Given the description of an element on the screen output the (x, y) to click on. 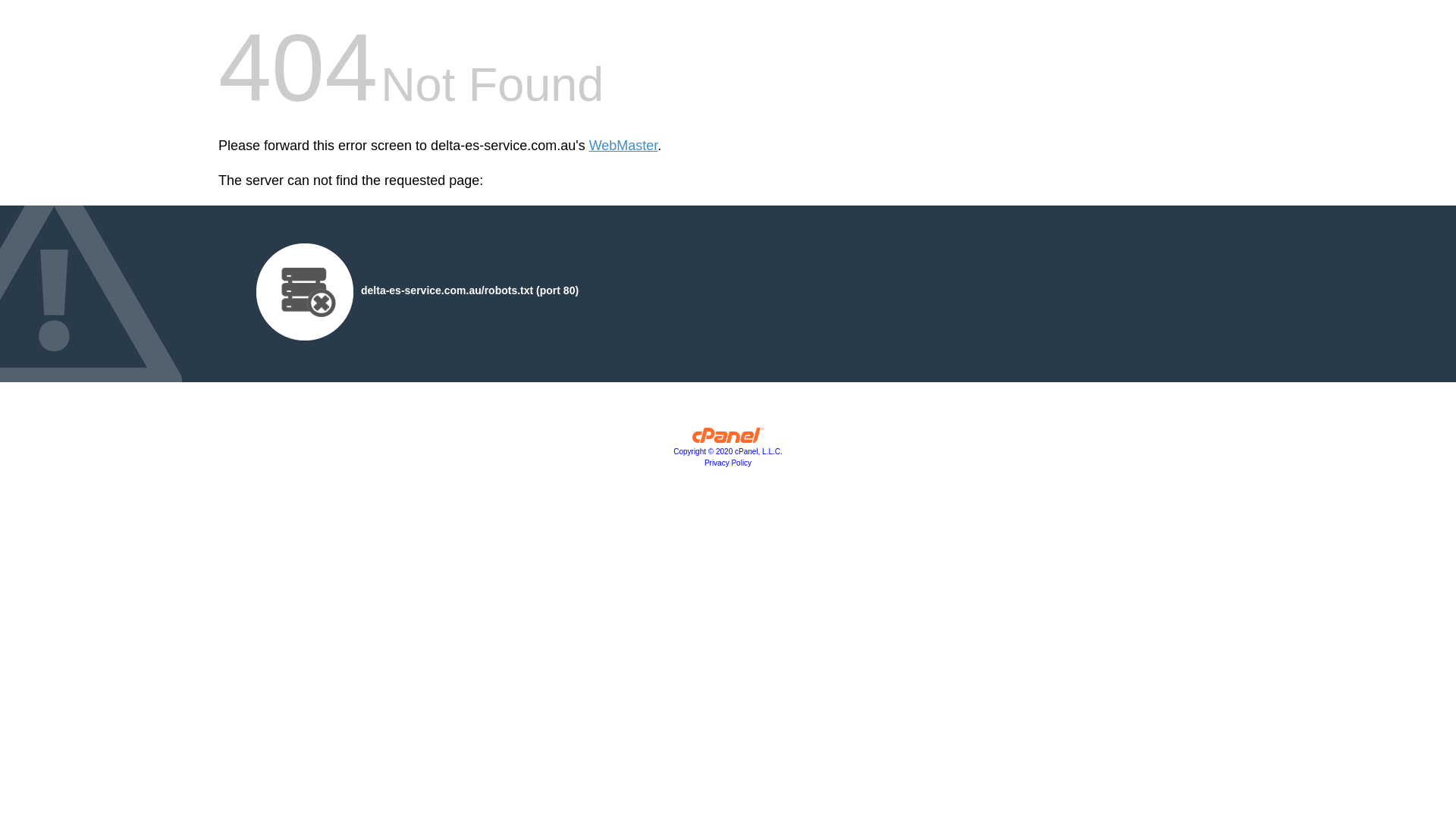
cPanel, Inc. Element type: hover (728, 439)
Privacy Policy Element type: text (727, 462)
WebMaster Element type: text (623, 145)
